Given the description of an element on the screen output the (x, y) to click on. 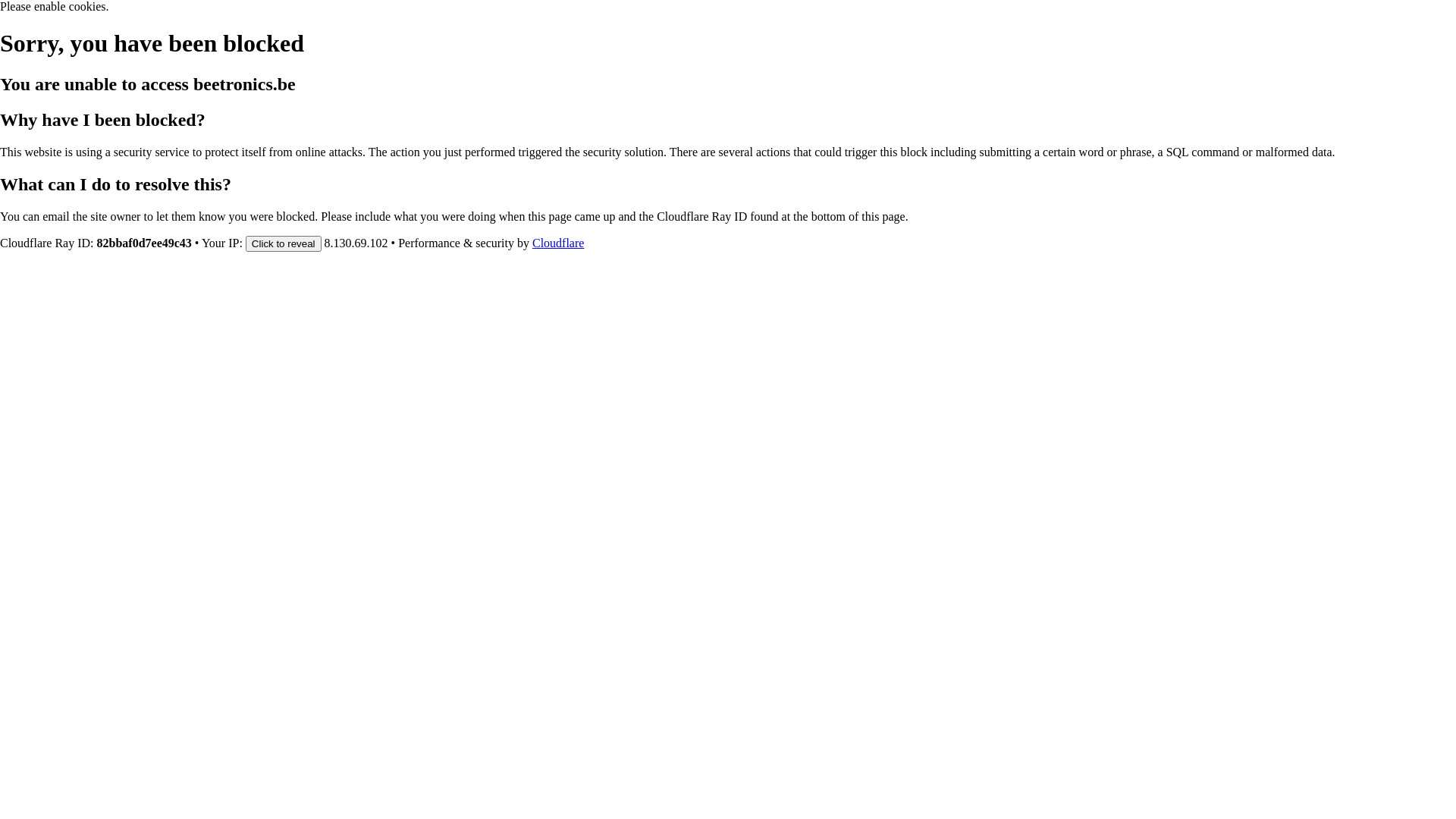
Cloudflare Element type: text (557, 242)
Click to reveal Element type: text (283, 243)
